Given the description of an element on the screen output the (x, y) to click on. 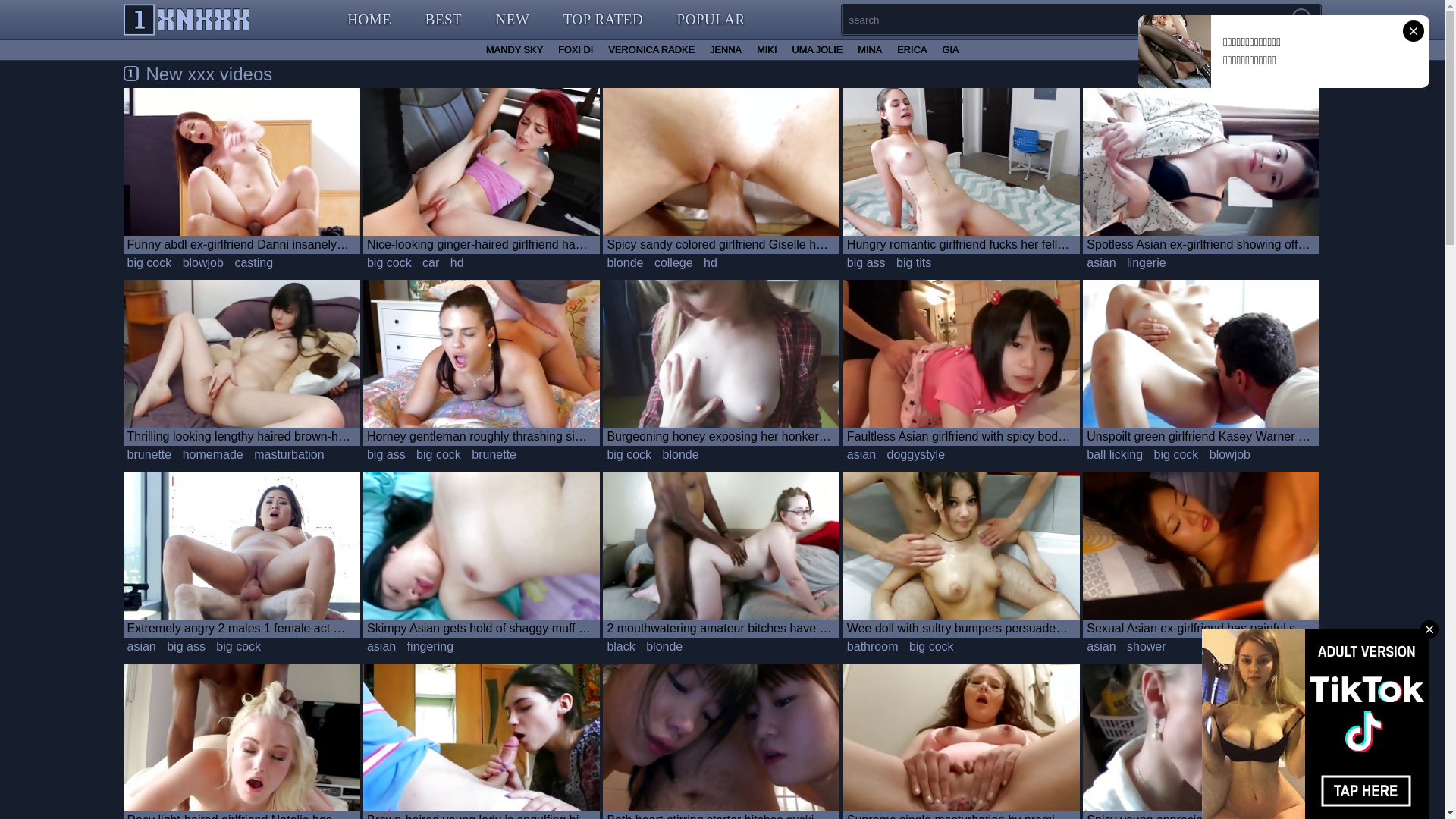
big cock Element type: text (148, 263)
JENNA Element type: text (725, 49)
Skimpy Asian gets hold of shaggy muff teased and lays her bf Element type: text (481, 554)
NEW Element type: text (512, 19)
MANDY SKY Element type: text (514, 49)
big ass Element type: text (186, 646)
blowjob Element type: text (202, 263)
1xnxxx.com Element type: text (186, 19)
bathroom Element type: text (872, 646)
UMA JOLIE Element type: text (817, 49)
big ass Element type: text (386, 454)
black Element type: text (620, 646)
asian Element type: text (1100, 646)
big cock Element type: text (438, 454)
VERONICA RADKE Element type: text (651, 49)
homemade Element type: text (212, 454)
ball licking Element type: text (1114, 454)
blonde Element type: text (624, 263)
HOME Element type: text (369, 19)
ERICA Element type: text (911, 49)
doggystyle Element type: text (916, 454)
GIA Element type: text (950, 49)
Hungry romantic girlfriend fucks her fellow hd Element type: text (961, 170)
car Element type: text (430, 263)
MINA Element type: text (869, 49)
TOP RATED Element type: text (603, 19)
big cock Element type: text (628, 454)
asian Element type: text (140, 646)
big tits Element type: text (913, 263)
FOXI DI Element type: text (575, 49)
HOME
BEST
NEW
TOP RATED
POPULAR Element type: text (545, 18)
big cock Element type: text (931, 646)
asian Element type: text (381, 646)
college Element type: text (673, 263)
casting Element type: text (253, 263)
blonde Element type: text (664, 646)
big cock Element type: text (238, 646)
big cock Element type: text (1176, 454)
Search Element type: text (1302, 19)
fingering Element type: text (430, 646)
big cock Element type: text (389, 263)
shower Element type: text (1146, 646)
POPULAR Element type: text (711, 19)
Funny abdl ex-girlfriend Danni insanely riding on wang Element type: text (240, 170)
asian Element type: text (861, 454)
asian Element type: text (1100, 263)
lingerie Element type: text (1146, 263)
hd Element type: text (456, 263)
masturbation Element type: text (289, 454)
blonde Element type: text (680, 454)
hd Element type: text (710, 263)
BEST Element type: text (443, 19)
big ass Element type: text (866, 263)
MIKI Element type: text (766, 49)
blowjob Element type: text (1229, 454)
brunette Element type: text (493, 454)
brunette Element type: text (148, 454)
Spicy sandy colored girlfriend Giselle has coarse loving sex Element type: text (720, 170)
